Given the description of an element on the screen output the (x, y) to click on. 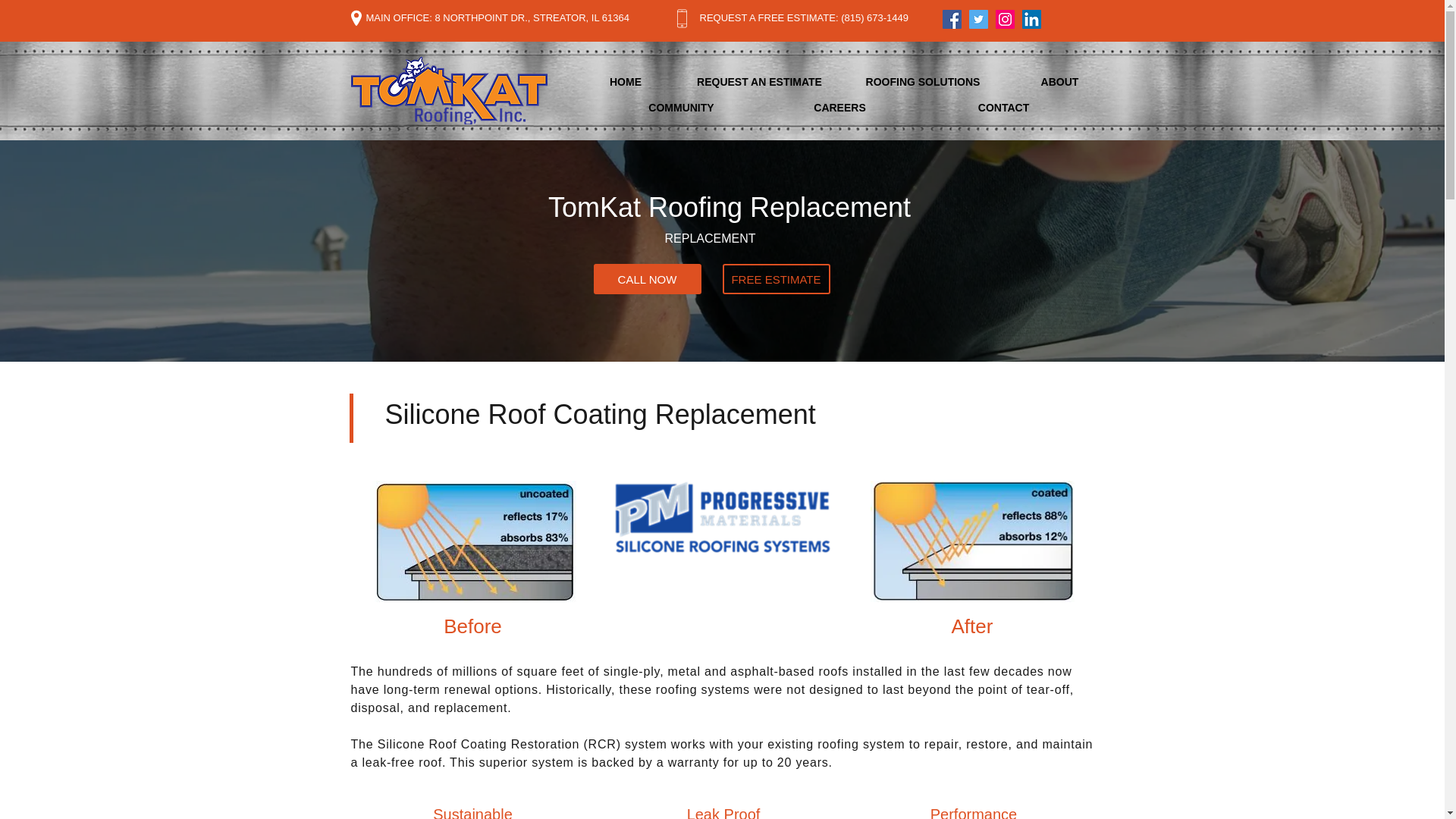
CALL NOW (646, 278)
ROOFING SOLUTIONS (923, 81)
CAREERS (839, 107)
FREE ESTIMATE (775, 278)
CONTACT (1002, 107)
MAIN OFFICE: 8 NORTHPOINT DR., STREATOR, IL 61364 (496, 17)
HOME (624, 81)
COMMUNITY (681, 107)
REQUEST AN ESTIMATE (759, 81)
ABOUT (1059, 81)
